Given the description of an element on the screen output the (x, y) to click on. 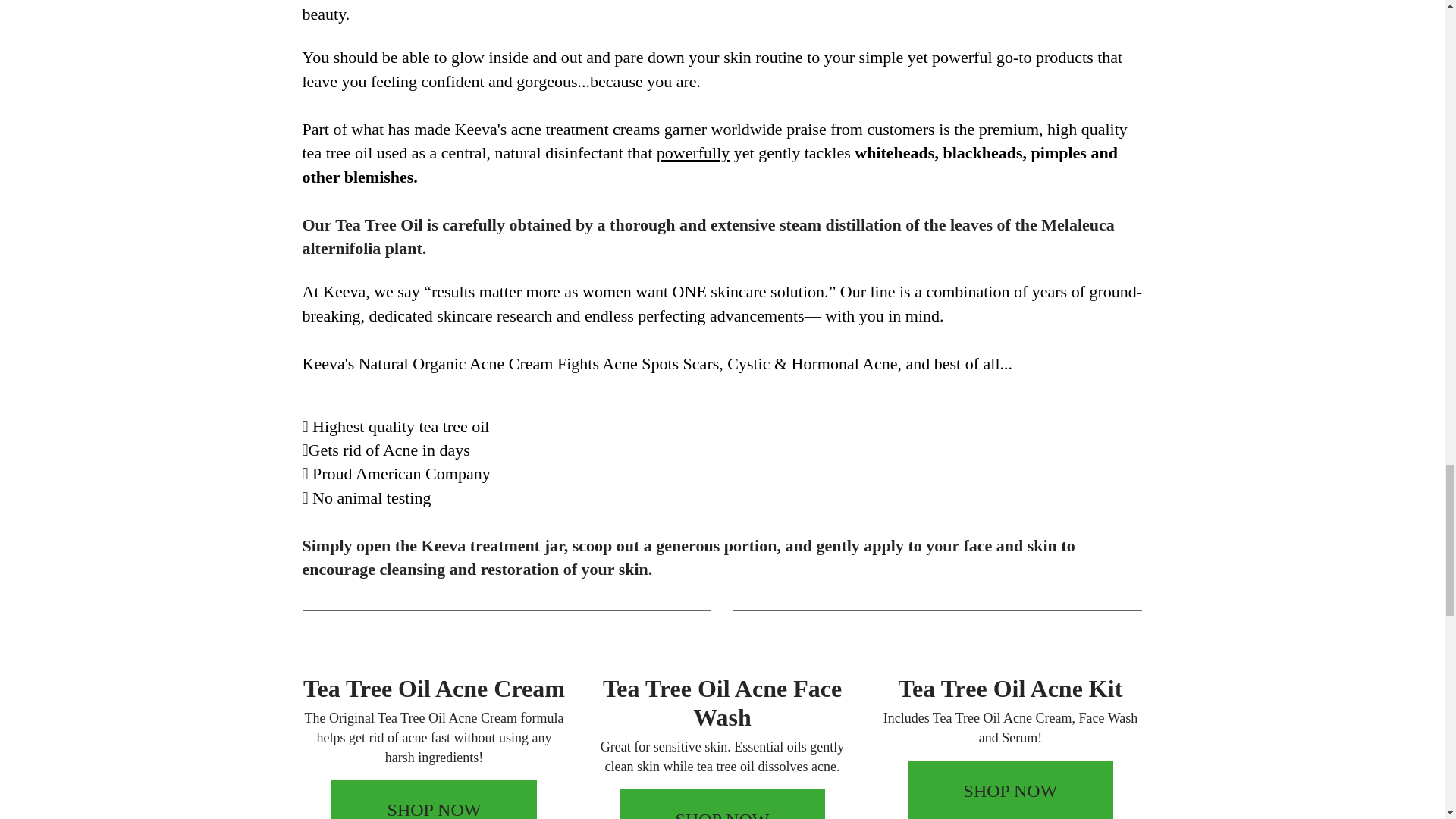
SHOP NOW (434, 799)
SHOP NOW (722, 804)
SHOP NOW (1010, 789)
